Given the description of an element on the screen output the (x, y) to click on. 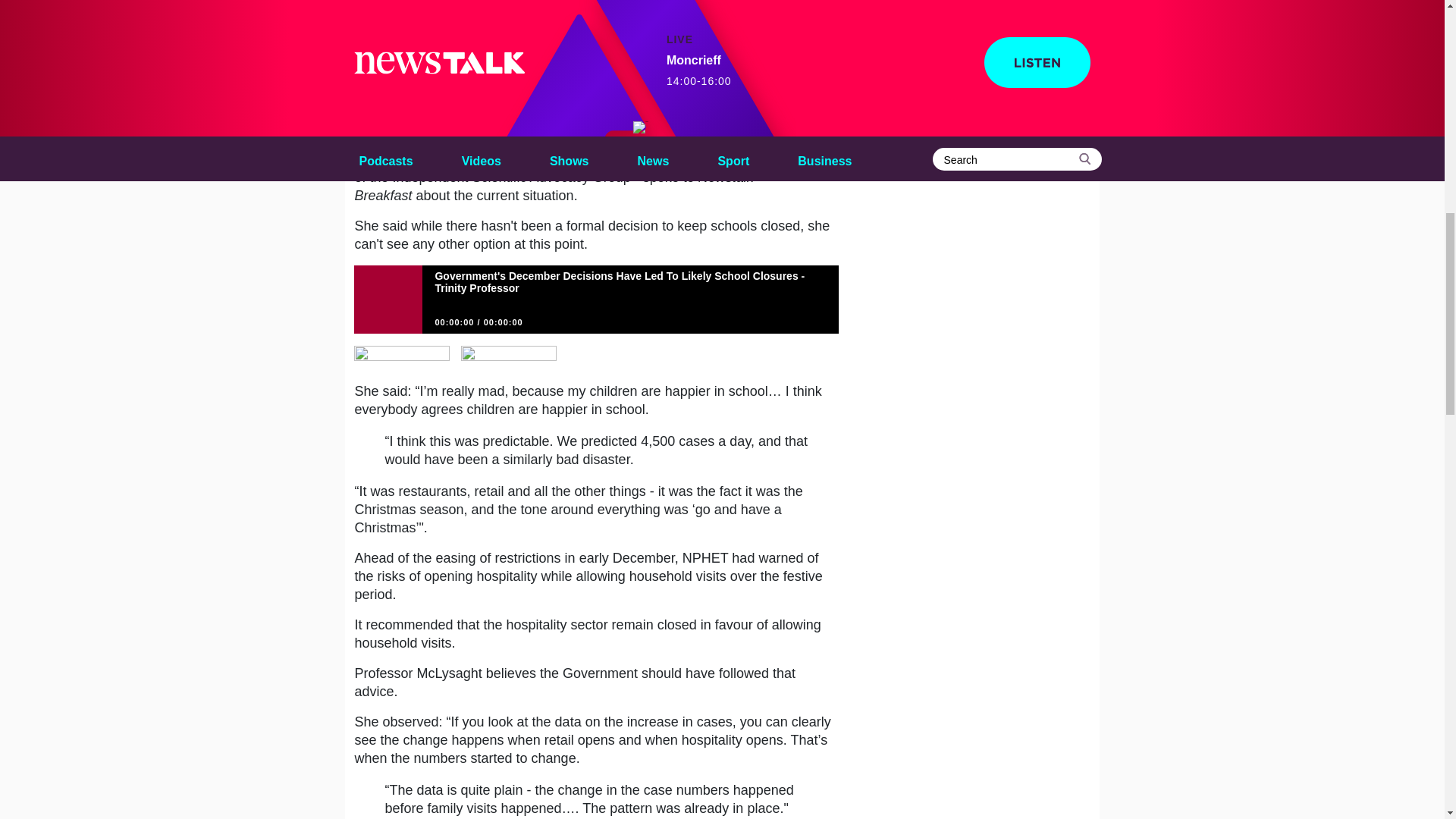
were reported yesterday (563, 70)
are meeting later today (680, 110)
